Given the description of an element on the screen output the (x, y) to click on. 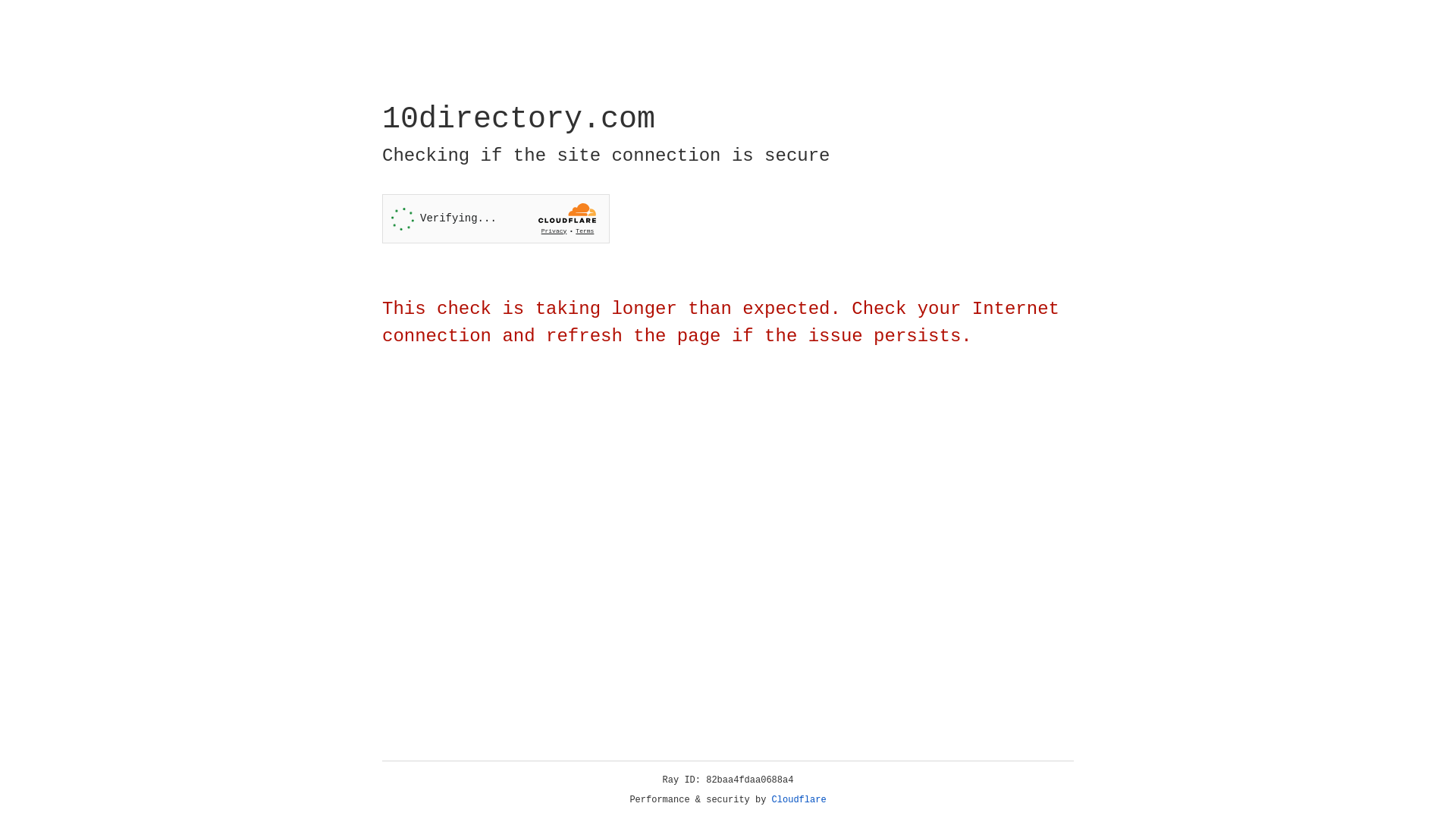
Widget containing a Cloudflare security challenge Element type: hover (495, 218)
Cloudflare Element type: text (798, 799)
